Given the description of an element on the screen output the (x, y) to click on. 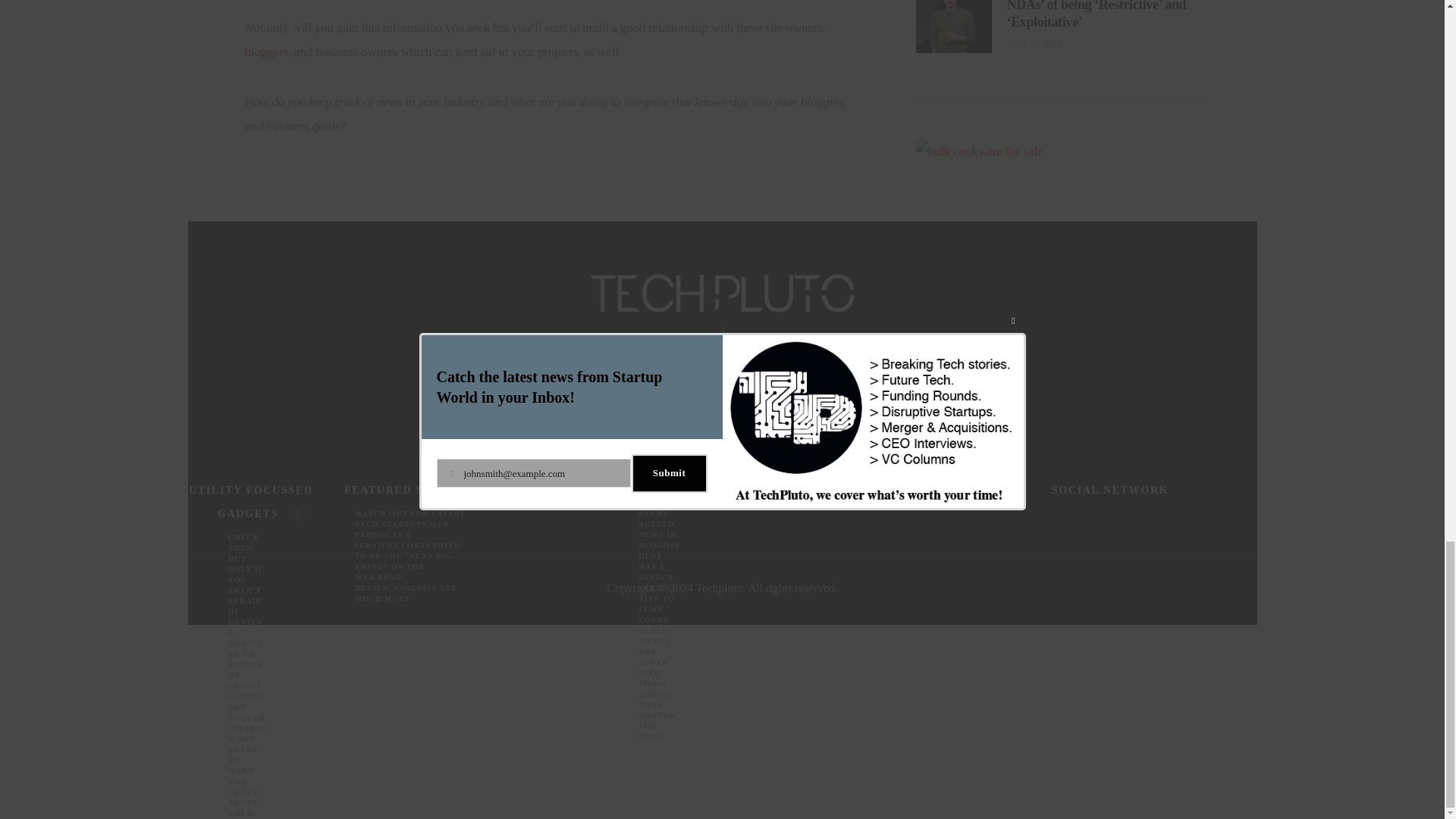
CMS Platforms for Bloggers (265, 51)
